Given the description of an element on the screen output the (x, y) to click on. 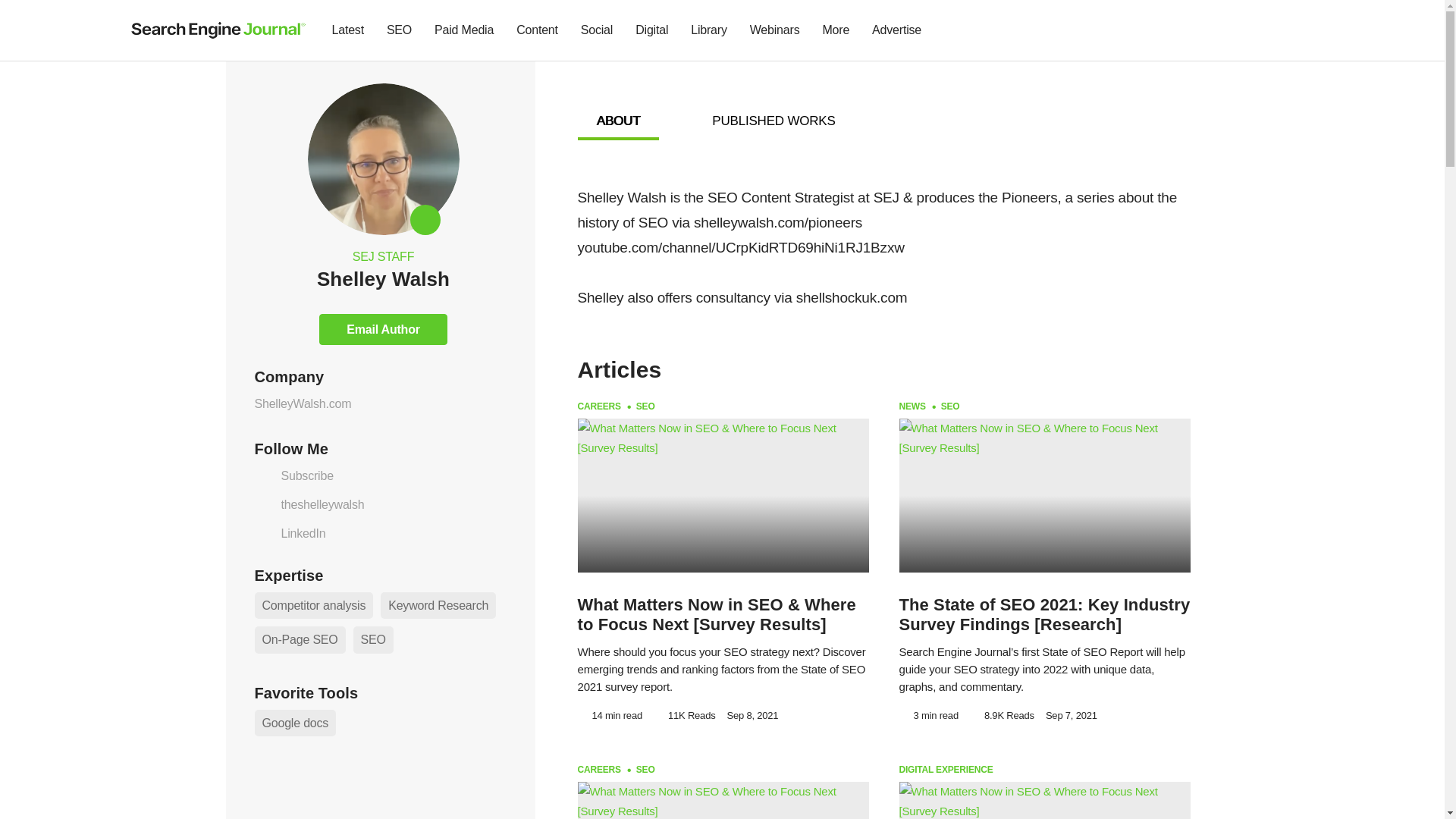
Click to View (373, 639)
Subscribe to our Newsletter (1277, 30)
Latest (347, 30)
Click to View (438, 605)
Click to View (300, 639)
Click to View (314, 605)
Paid Media (464, 30)
